Given the description of an element on the screen output the (x, y) to click on. 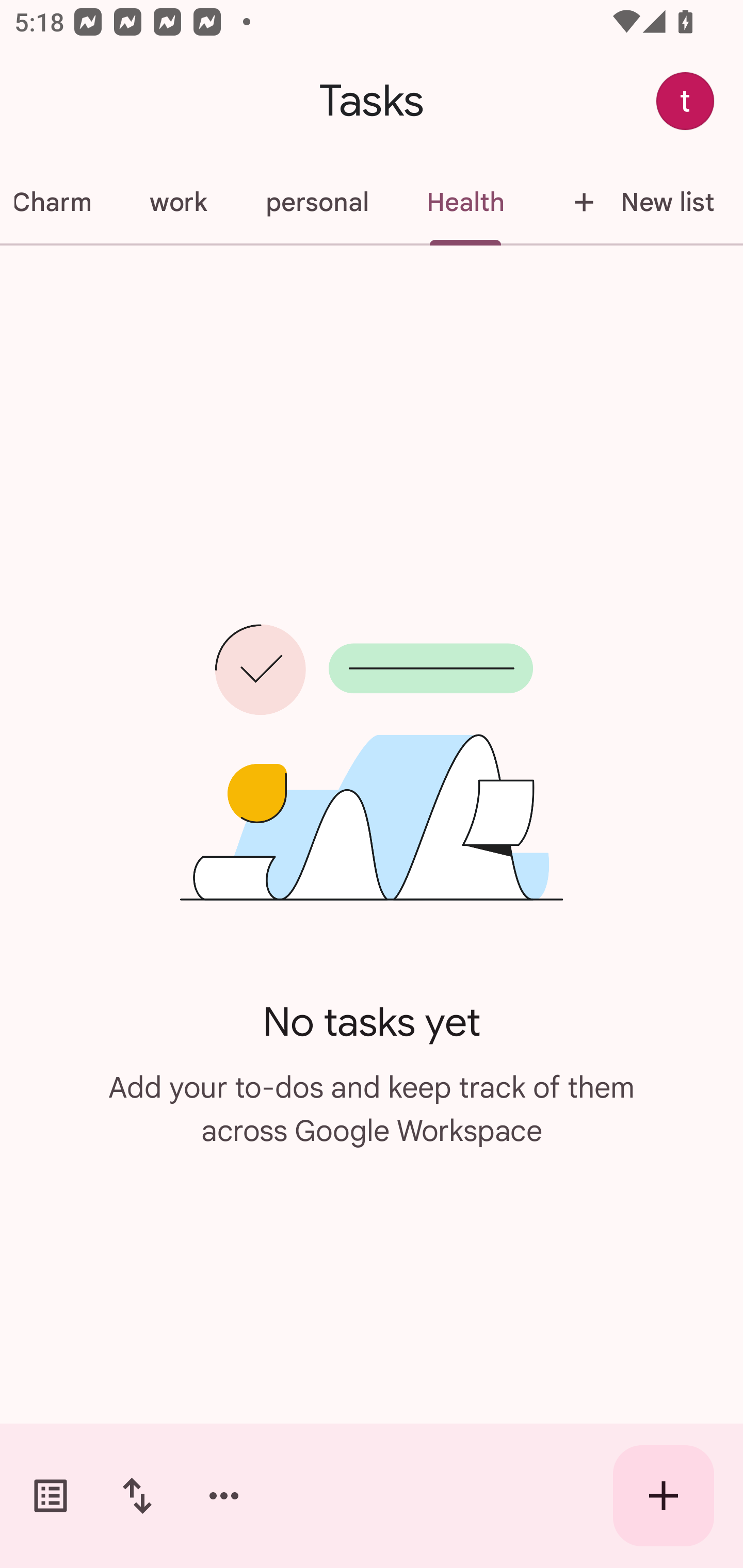
The Art of Charm (60, 202)
work (178, 202)
personal (316, 202)
New list (638, 202)
Switch task lists (50, 1495)
Create new task (663, 1495)
Change sort order (136, 1495)
More options (223, 1495)
